Given the description of an element on the screen output the (x, y) to click on. 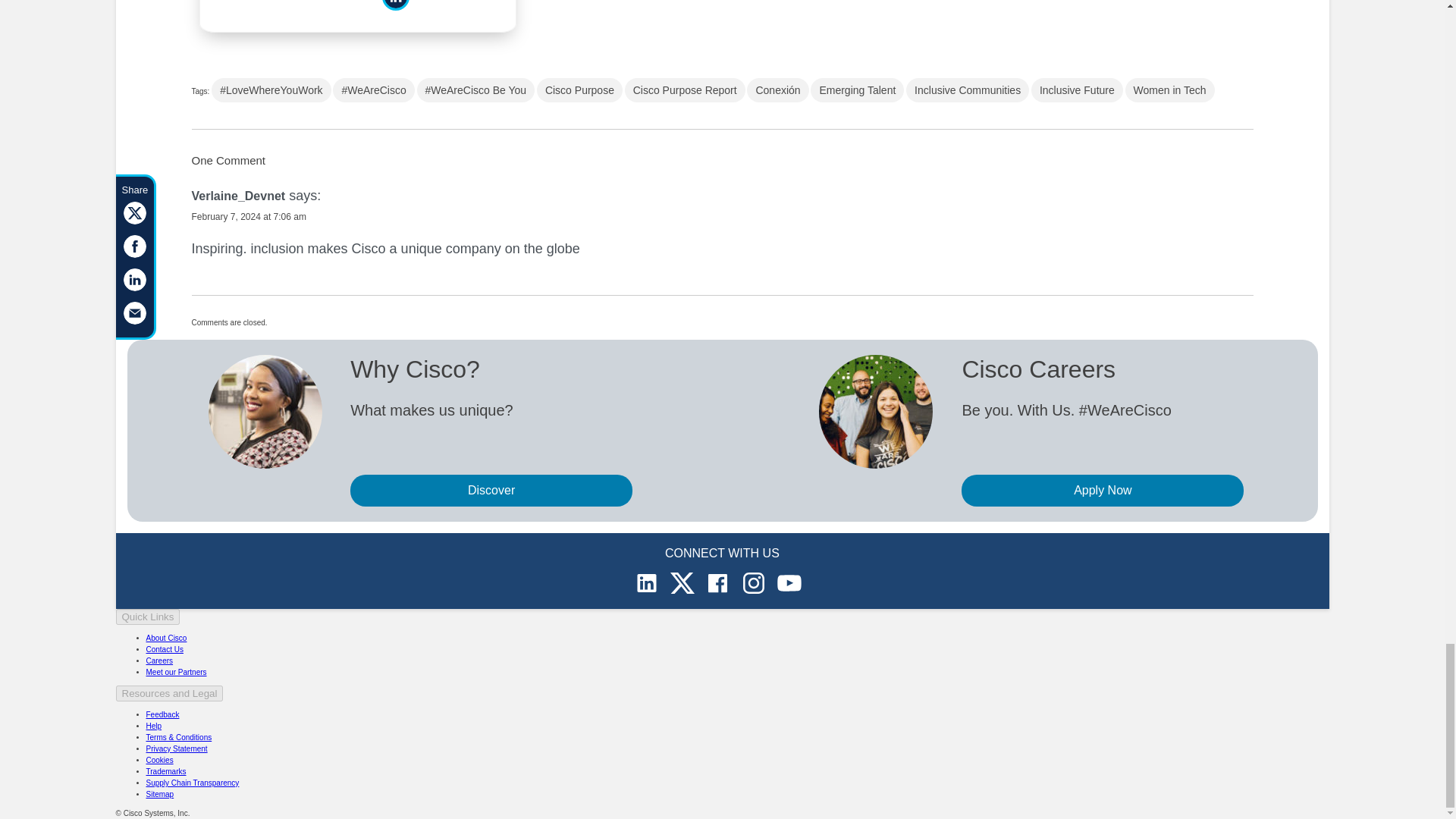
Discover (490, 490)
February 7, 2024 at 7:06 am (247, 216)
Inclusive Communities (967, 89)
Cisco Purpose (580, 89)
Emerging Talent (857, 89)
Cisco Purpose Report (684, 89)
Inclusive Future (1076, 89)
